Given the description of an element on the screen output the (x, y) to click on. 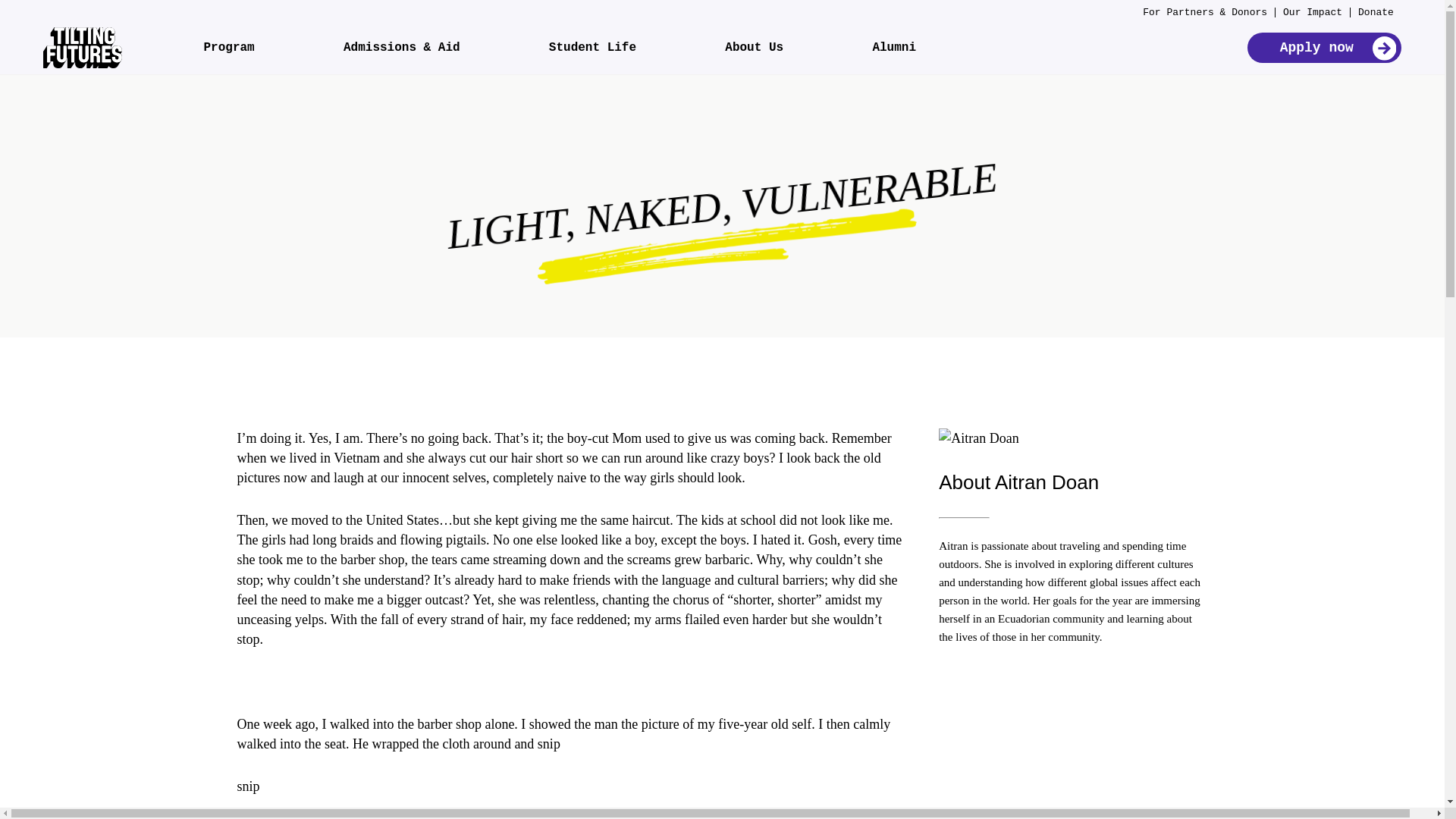
Program (228, 47)
Student Life (592, 47)
About Us (754, 47)
Our Impact (1312, 12)
Donate (1375, 12)
